Given the description of an element on the screen output the (x, y) to click on. 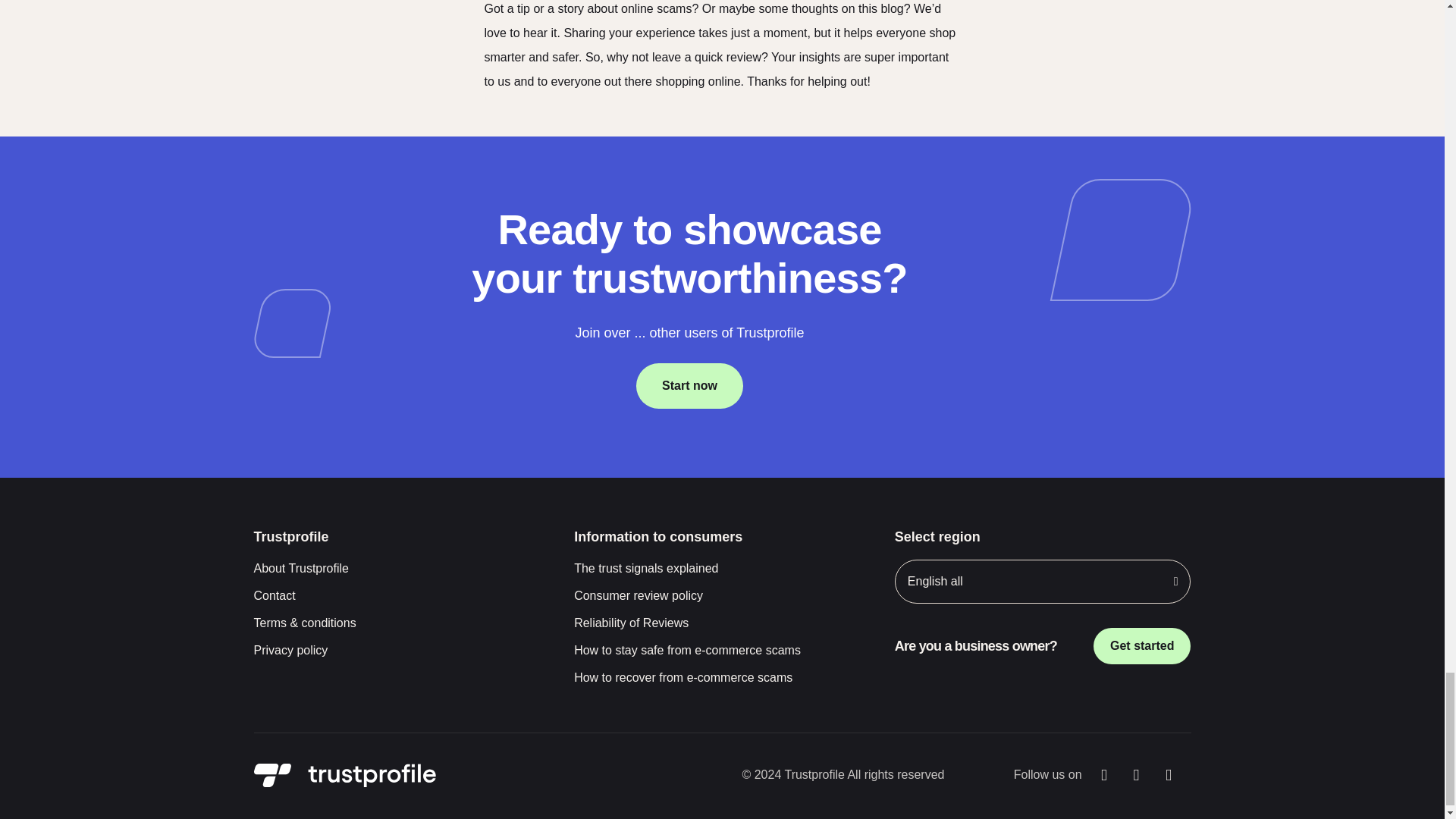
How to stay safe from e-commerce scams (721, 650)
Facebook (1104, 774)
Consumer review policy (721, 596)
How to recover from e-commerce scams (721, 678)
Instagram (1136, 774)
Reliability of Reviews (721, 623)
Contact (401, 596)
About Trustprofile (401, 568)
The trust signals explained (721, 568)
Start now (689, 385)
Privacy policy (401, 650)
English all (1043, 581)
Linkedin (1168, 774)
